Given the description of an element on the screen output the (x, y) to click on. 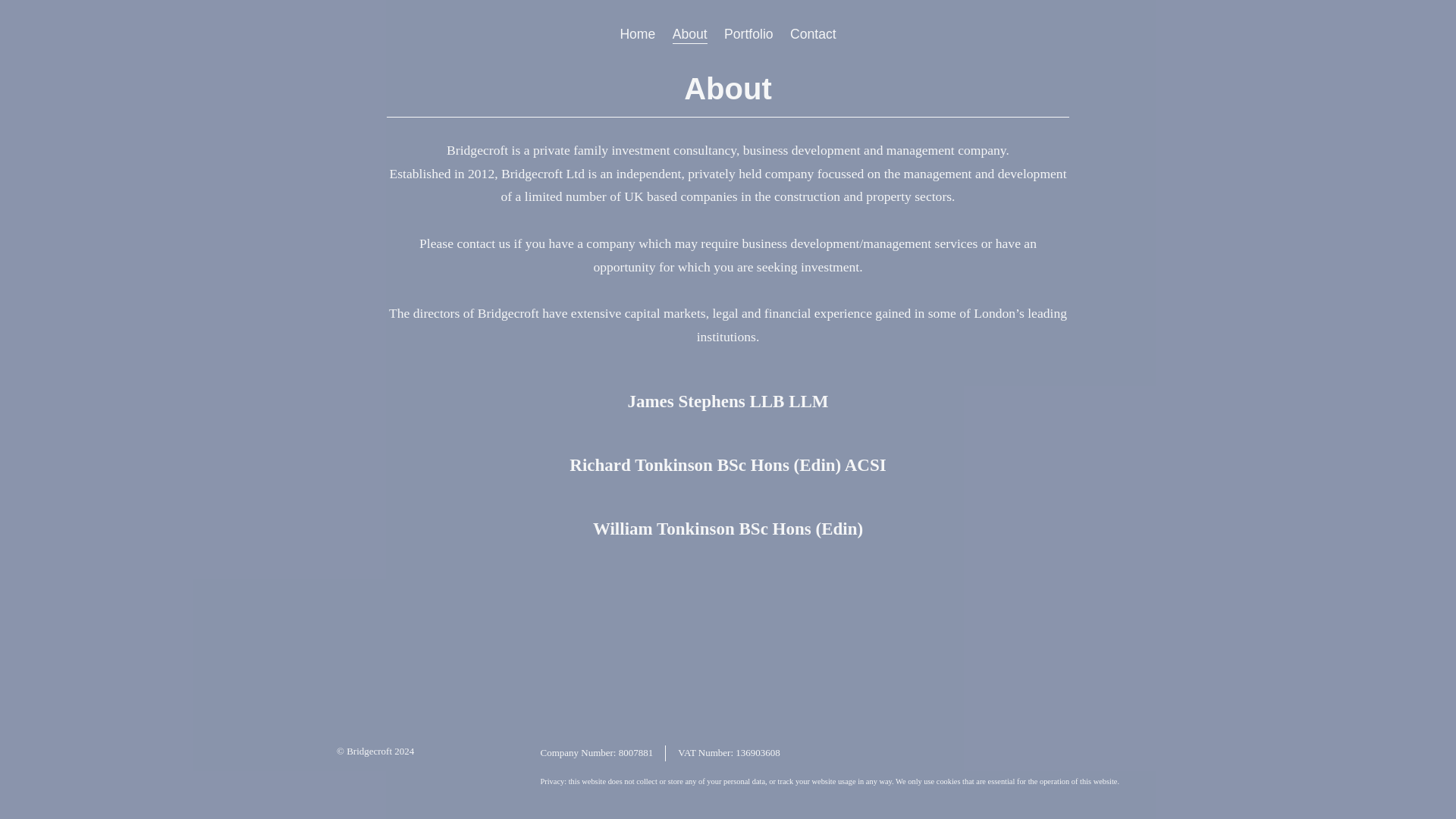
Home (637, 34)
About (689, 34)
Portfolio (748, 34)
Contact (812, 34)
